Given the description of an element on the screen output the (x, y) to click on. 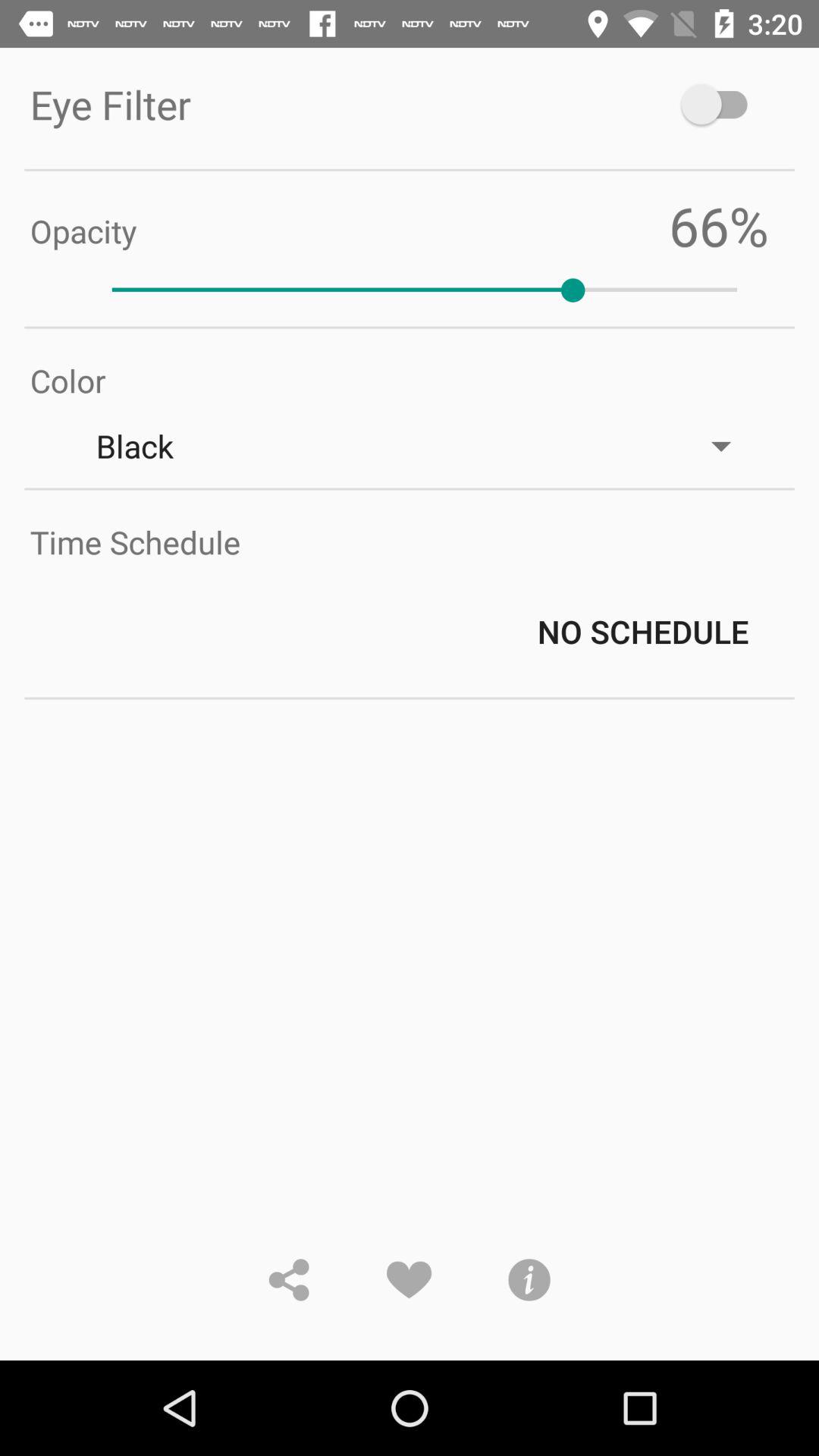
launch the no schedule icon (424, 631)
